Given the description of an element on the screen output the (x, y) to click on. 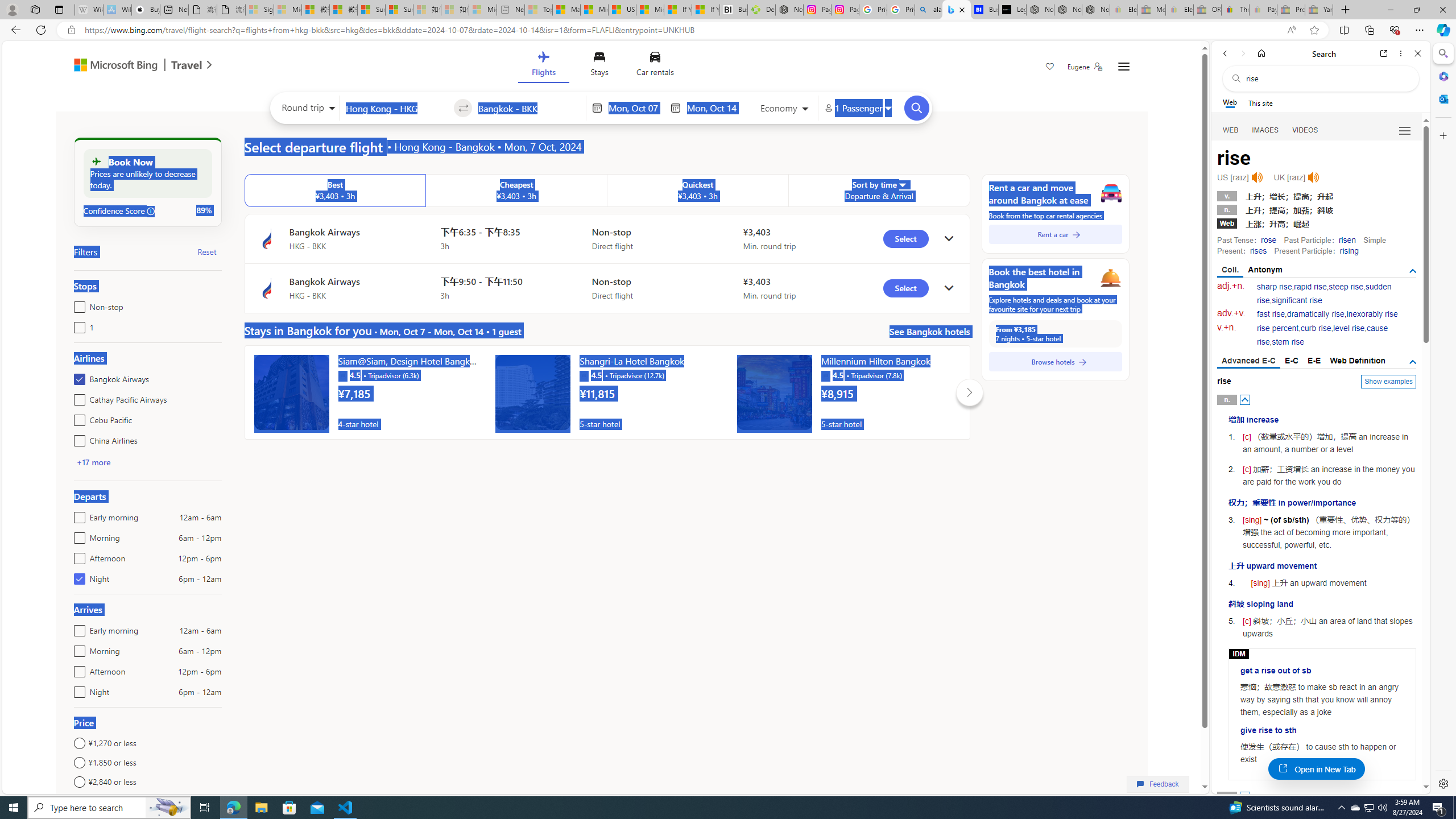
Threats and offensive language policy | eBay (1235, 9)
Swap source and destination (463, 108)
Web scope (1230, 102)
Car rentals (654, 65)
AutomationID: posbtn_1 (1245, 796)
Tripadvisor (825, 375)
Top Stories - MSN - Sleeping (538, 9)
rose (1268, 239)
Web Definition (1357, 360)
Preferences (1403, 129)
Class: trvl-hub-header nofilter (601, 65)
